Given the description of an element on the screen output the (x, y) to click on. 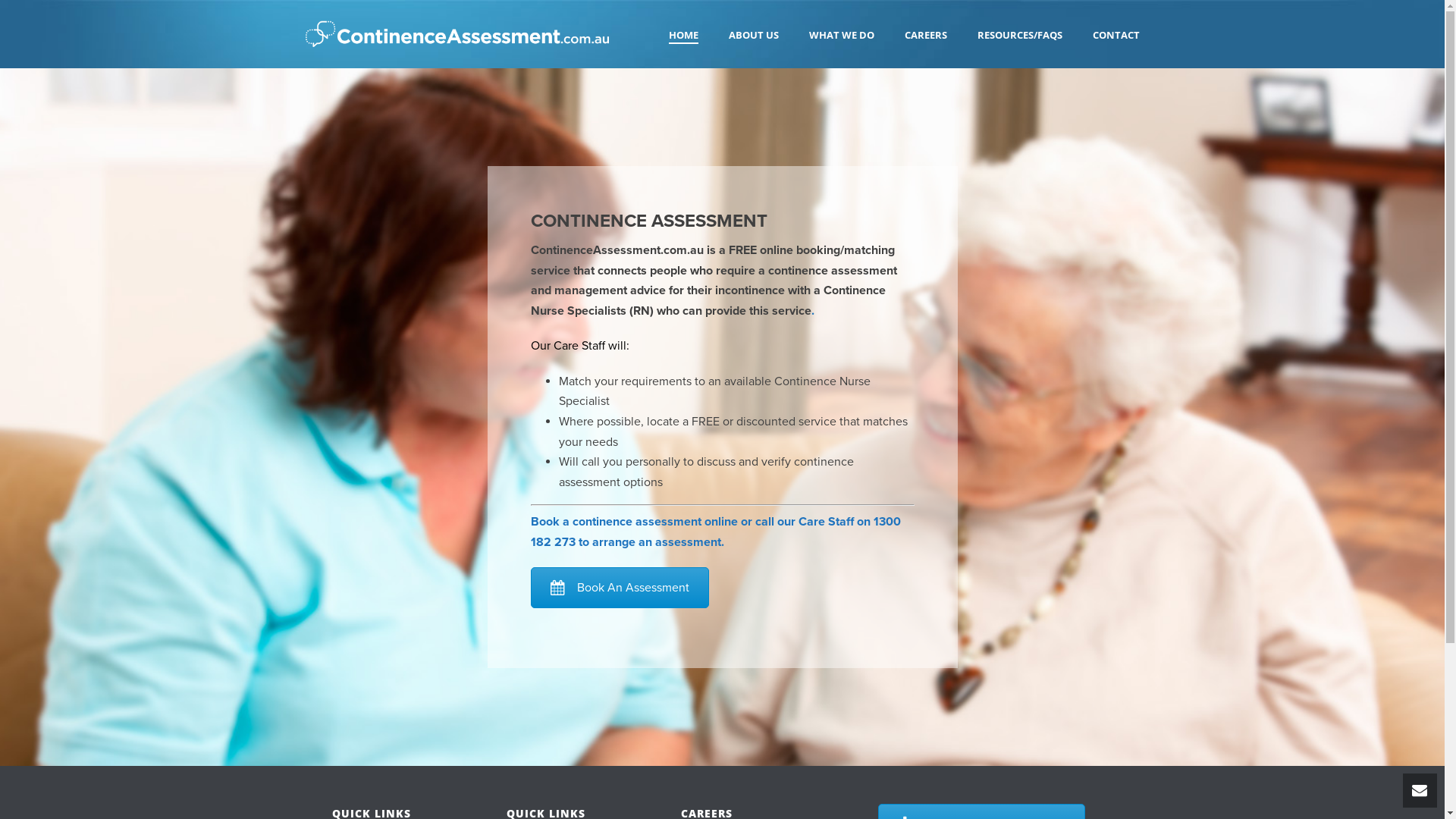
CONTACT Element type: text (1115, 35)
WHAT WE DO Element type: text (840, 35)
CAREERS Element type: text (924, 35)
RESOURCES/FAQS Element type: text (1018, 35)
HOME Element type: text (683, 35)
ABOUT US Element type: text (752, 35)
Book An Assessment Element type: text (619, 587)
